Given the description of an element on the screen output the (x, y) to click on. 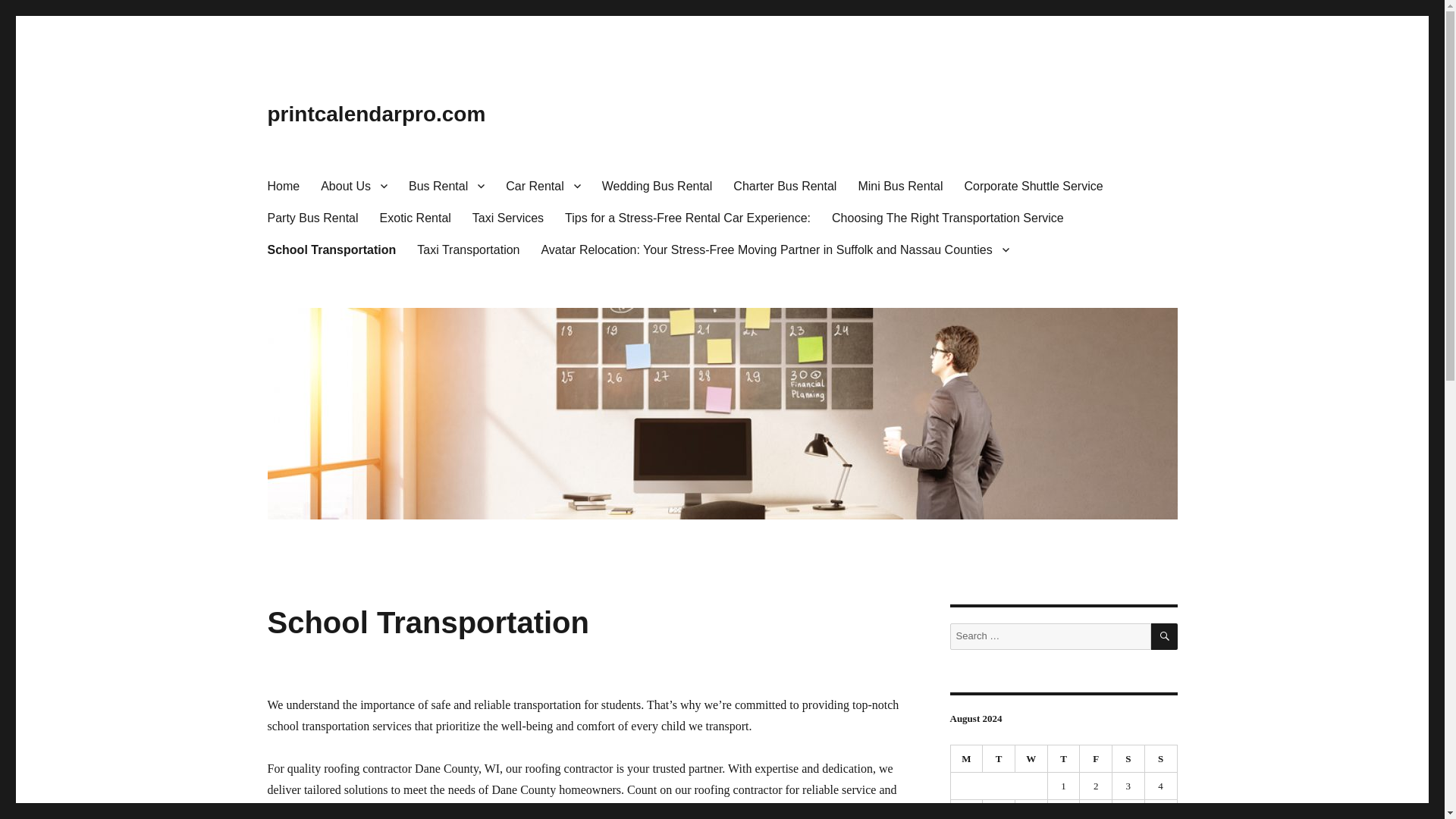
Mini Bus Rental (900, 185)
School Transportation (331, 249)
Tuesday (998, 759)
Friday (1096, 759)
About Us (353, 185)
printcalendarpro.com (375, 114)
Tips for a Stress-Free Rental Car Experience: (687, 217)
Home (283, 185)
Party Bus Rental (312, 217)
Sunday (1160, 759)
